Given the description of an element on the screen output the (x, y) to click on. 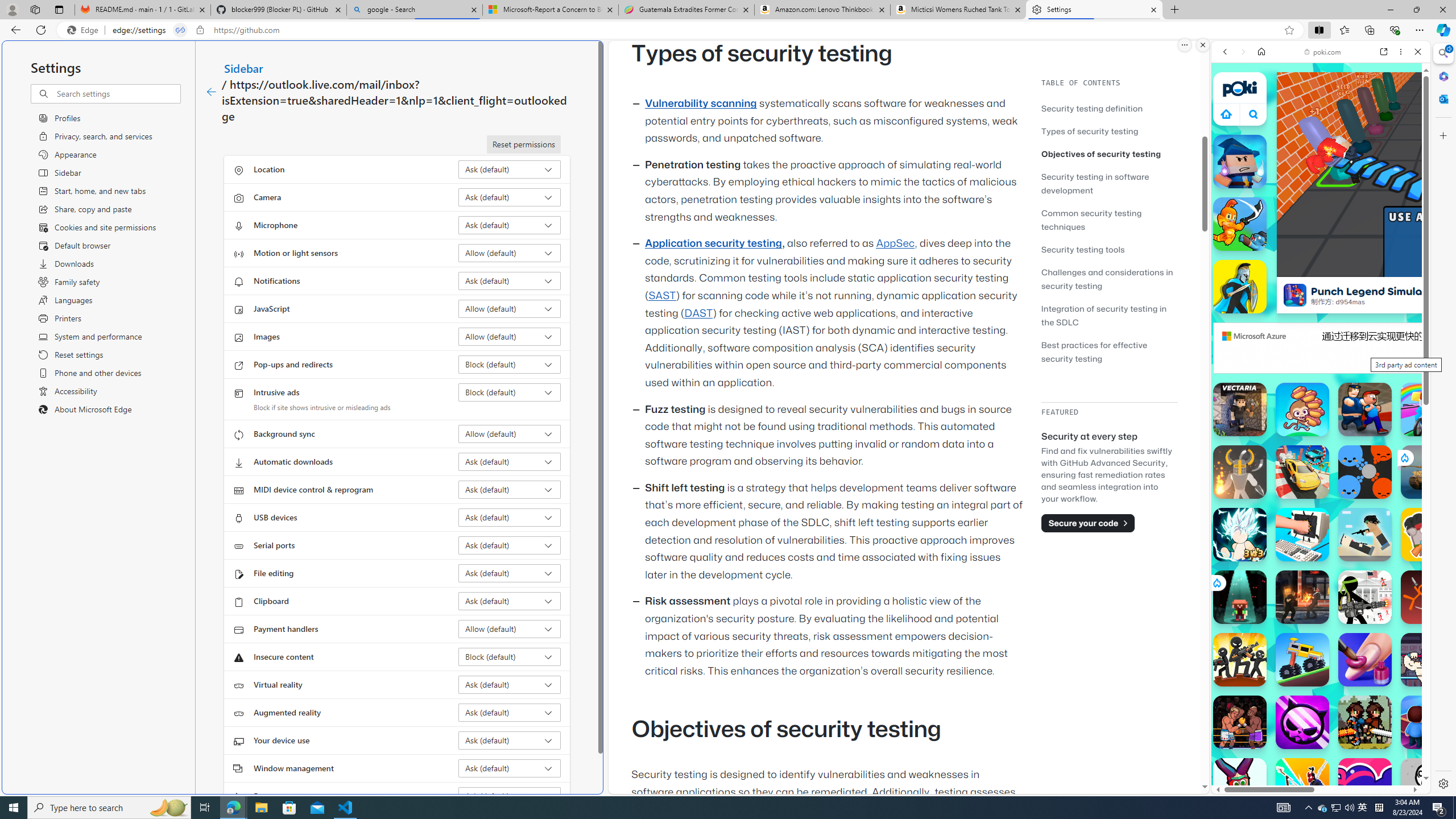
Last Warriors Last Warriors (1302, 784)
Types of security testing (1089, 130)
Escape From School Escape From School (1364, 409)
Stick Fighter Stick Fighter (1364, 784)
Objectives of security testing (1101, 153)
Shooting Games (1320, 295)
Pop-ups and redirects Block (default) (509, 364)
MagicLand.io MagicLand.io (1239, 161)
Stickman Dragon Fight (1239, 534)
Class: c01182 (210, 91)
